Given the description of an element on the screen output the (x, y) to click on. 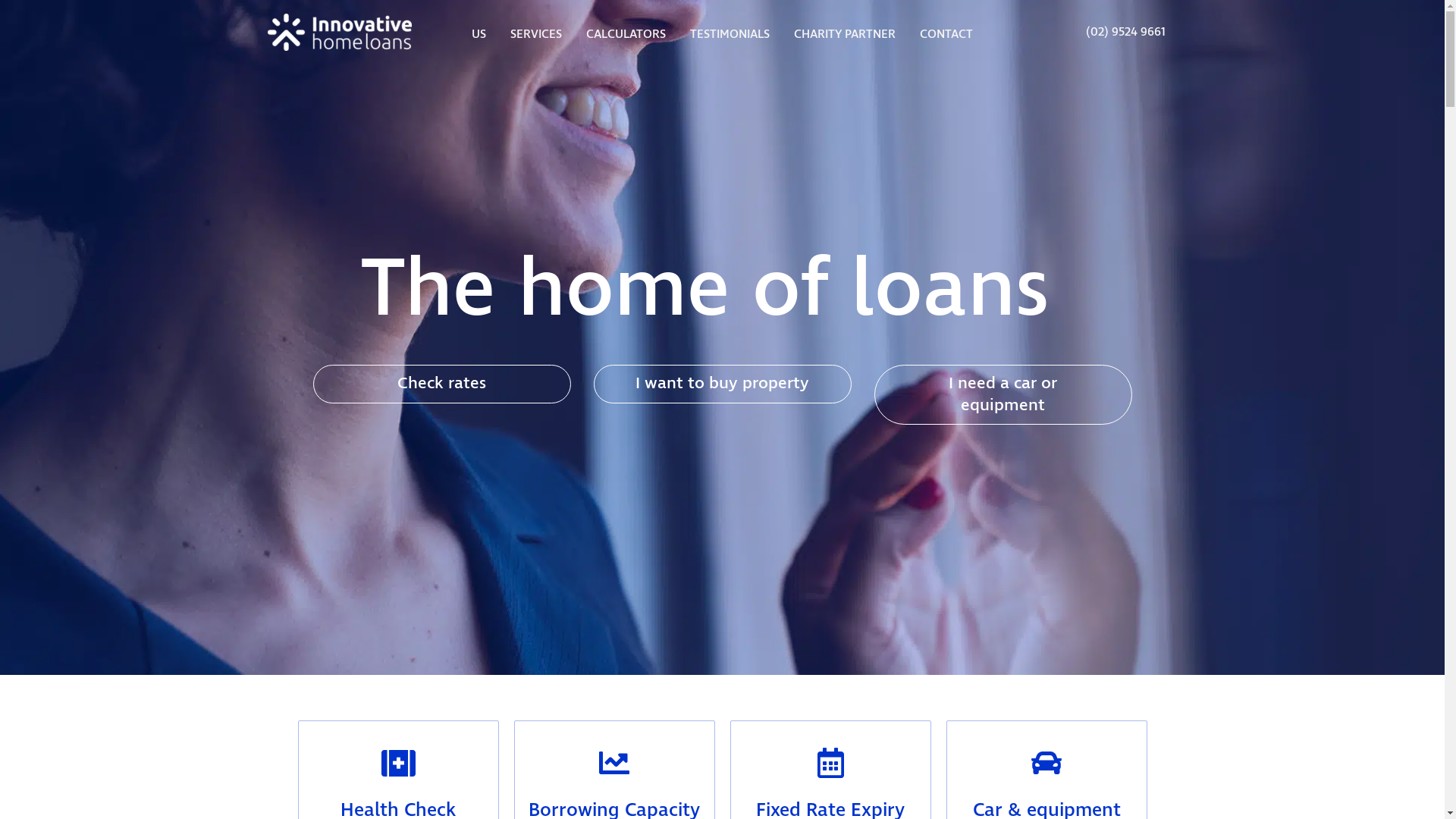
CHARITY PARTNER Element type: text (844, 34)
US Element type: text (478, 34)
CONTACT Element type: text (946, 34)
TESTIMONIALS Element type: text (729, 34)
SERVICES Element type: text (536, 34)
(02) 9524 9661 Element type: text (1125, 32)
I need a car or equipment Element type: text (1002, 394)
CALCULATORS Element type: text (625, 34)
I want to buy property Element type: text (721, 383)
Check rates Element type: text (441, 383)
